Given the description of an element on the screen output the (x, y) to click on. 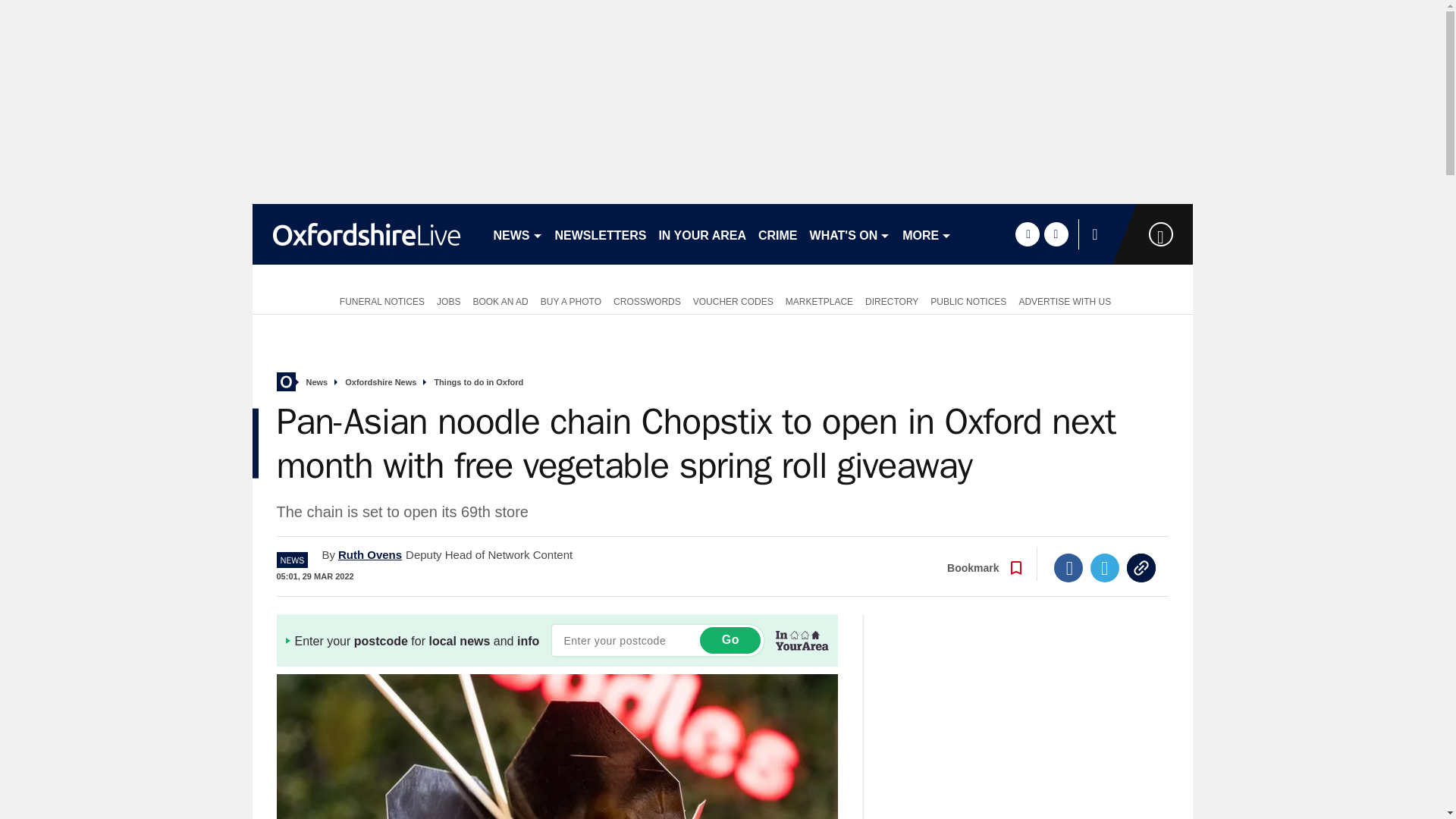
News (317, 382)
Go (730, 640)
WHAT'S ON (849, 233)
ADVERTISE WITH US (1063, 300)
Facebook (1068, 567)
Twitter (1104, 567)
DIRECTORY (891, 300)
facebook (1026, 233)
MARKETPLACE (818, 300)
twitter (1055, 233)
PUBLIC NOTICES (967, 300)
IN YOUR AREA (702, 233)
Things to do in Oxford (477, 382)
VOUCHER CODES (732, 300)
CROSSWORDS (647, 300)
